Given the description of an element on the screen output the (x, y) to click on. 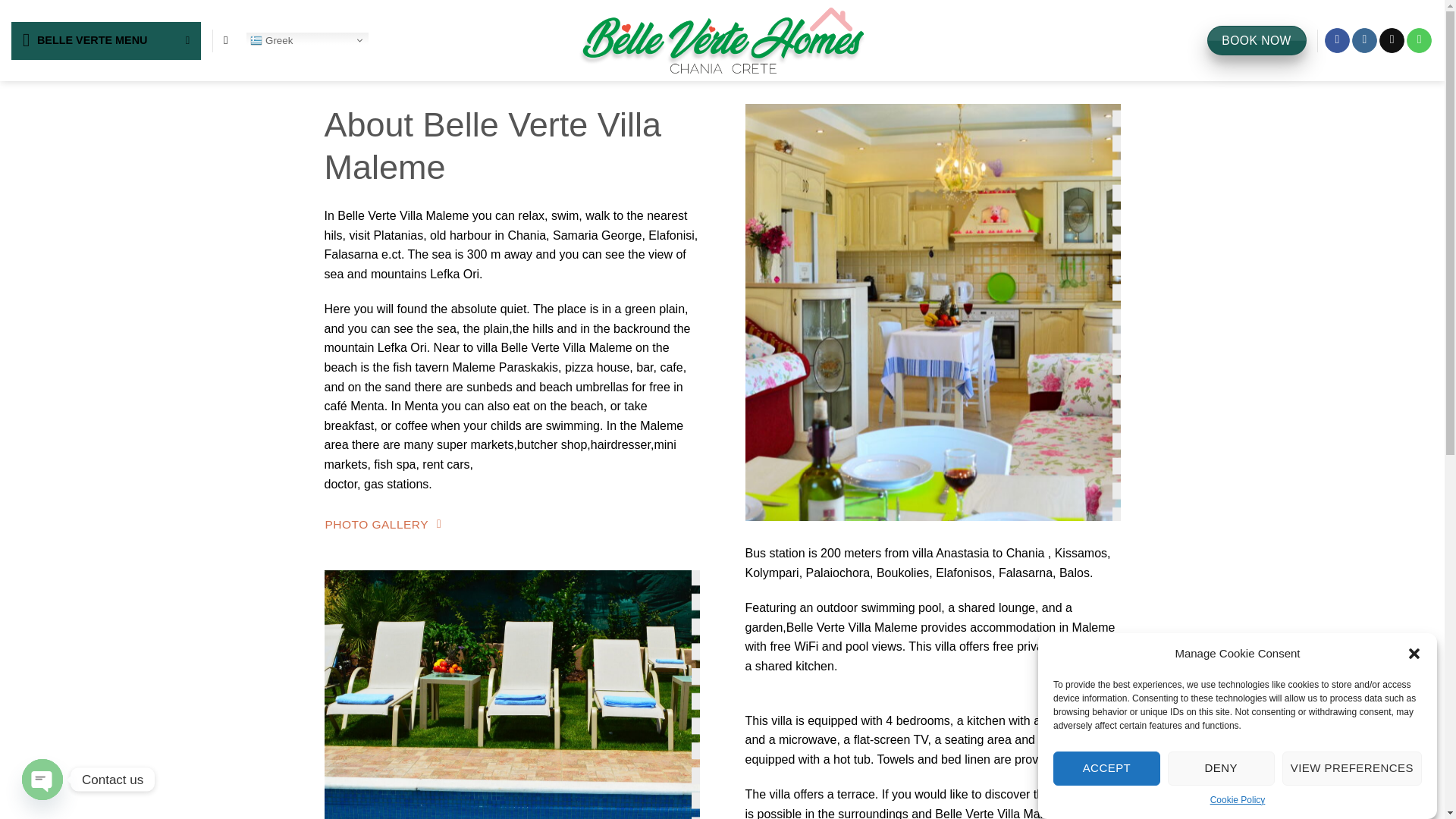
Follow on Instagram (1364, 40)
Send us an email (1391, 40)
Greek (307, 40)
BOOK NOW (1256, 40)
Follow on Facebook (1336, 40)
Call us (1418, 40)
Belle Verte Homes - Chania and Maleme, Crete, Greece (721, 40)
